Given the description of an element on the screen output the (x, y) to click on. 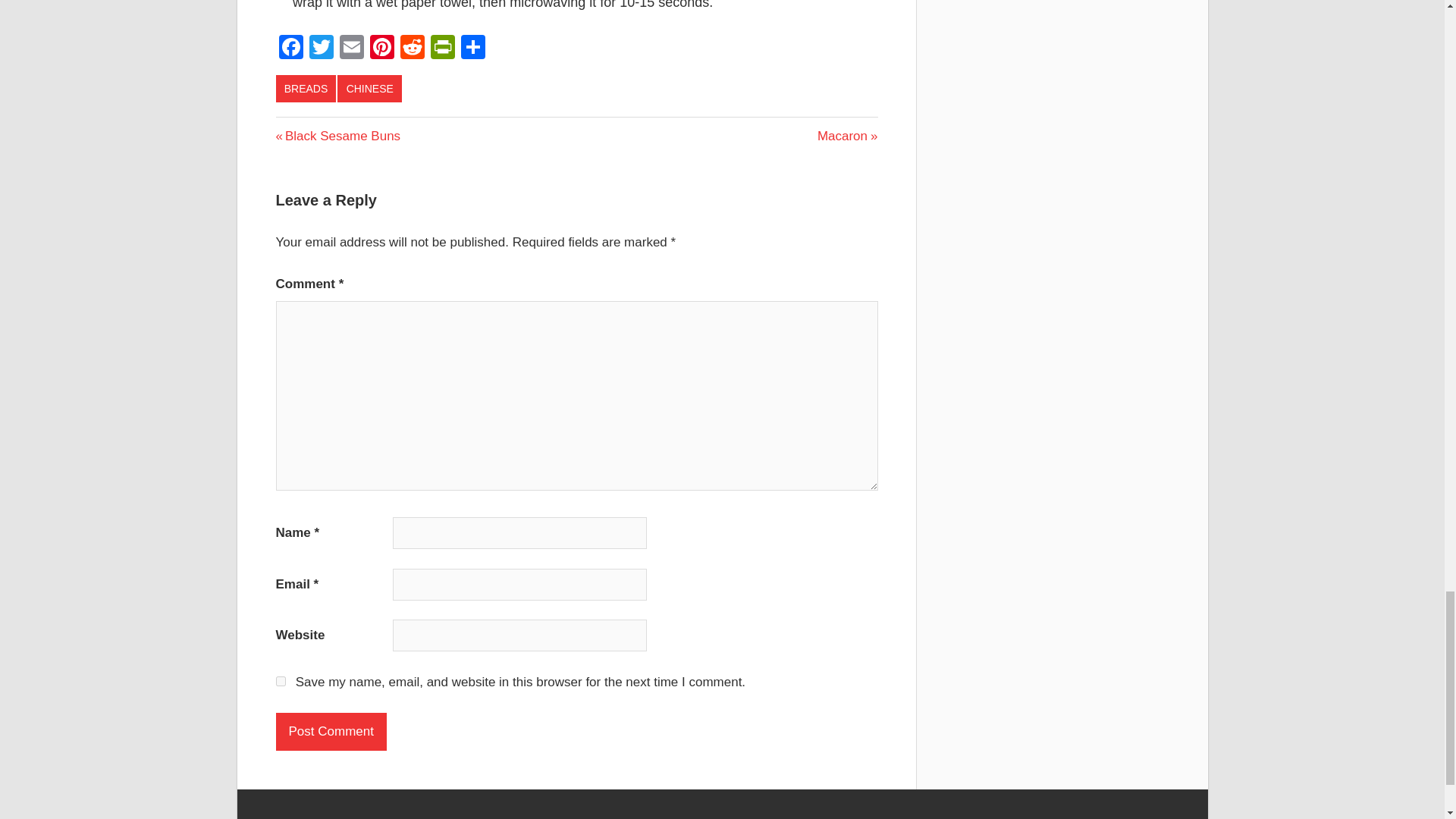
Twitter (320, 49)
Pinterest (381, 49)
Twitter (320, 49)
Share (472, 49)
Post Comment (846, 135)
Reddit (331, 731)
PrintFriendly (412, 49)
Email (443, 49)
PrintFriendly (351, 49)
Pinterest (443, 49)
BREADS (381, 49)
CHINESE (306, 88)
yes (369, 88)
